Given the description of an element on the screen output the (x, y) to click on. 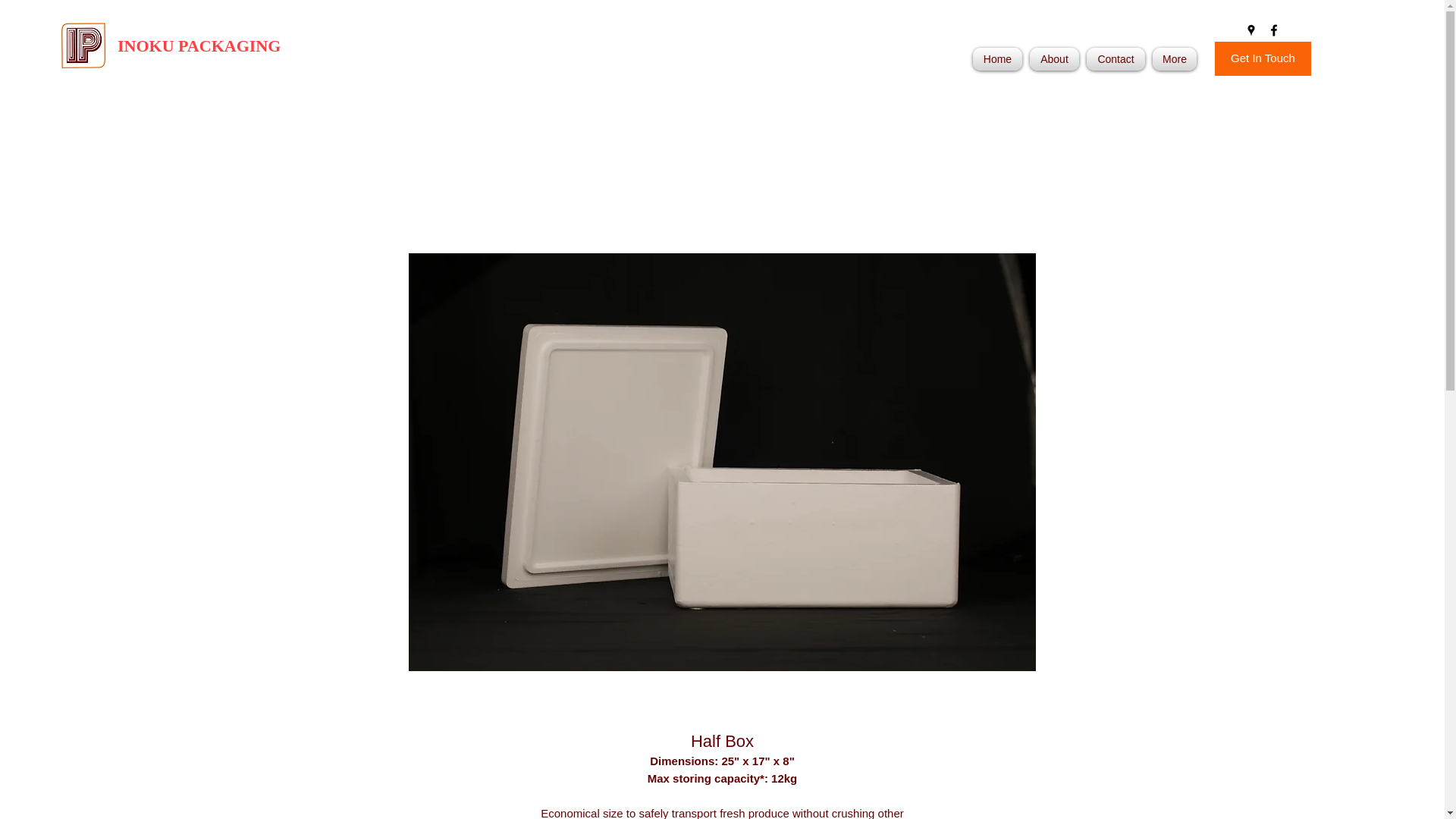
Contact (1115, 58)
Home (999, 58)
About (1054, 58)
Get In Touch (1262, 58)
INOKU PACKAGING (199, 45)
